Given the description of an element on the screen output the (x, y) to click on. 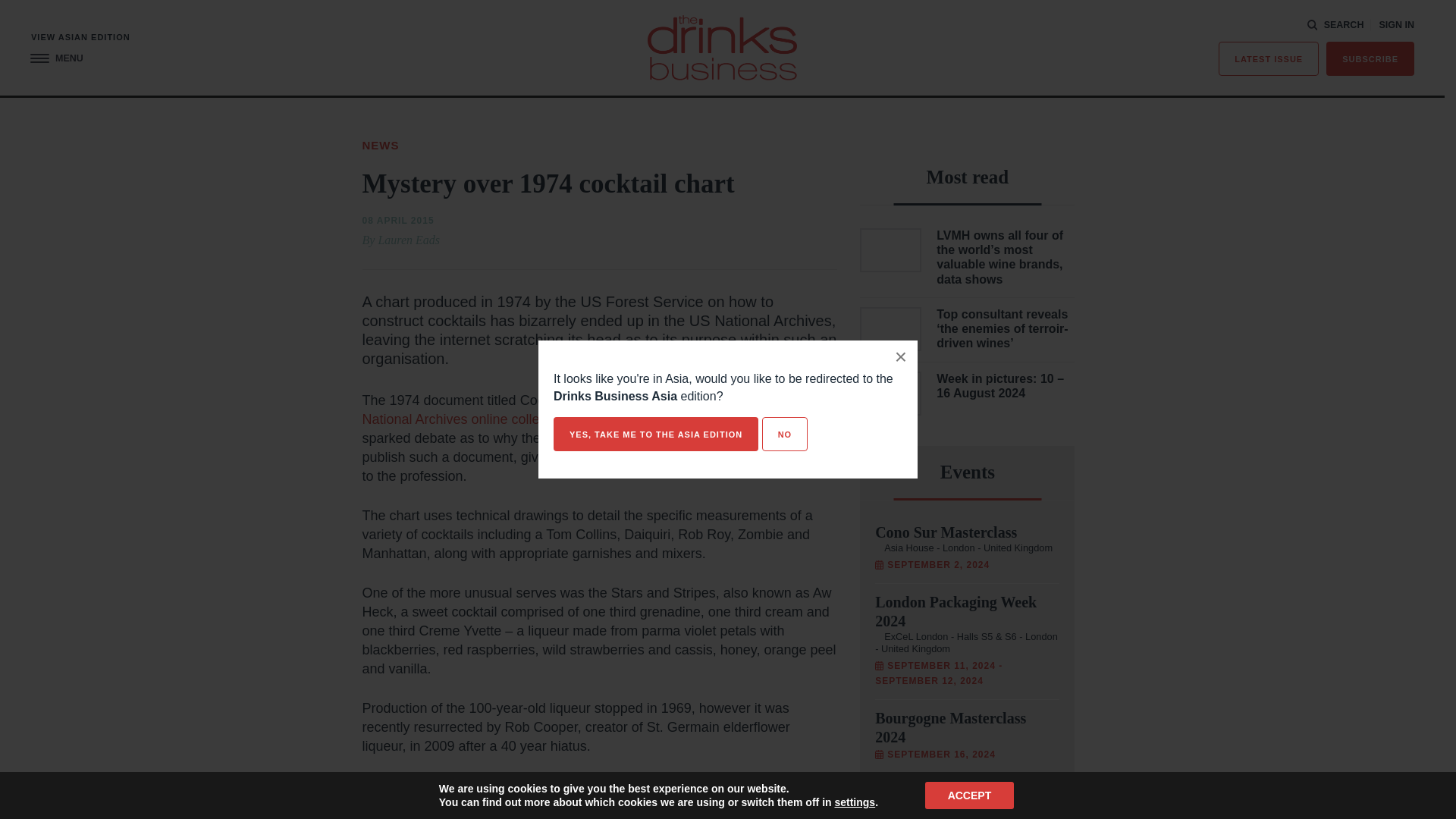
VIEW ASIAN EDITION (80, 37)
LATEST ISSUE (1268, 58)
YES, TAKE ME TO THE ASIA EDITION (655, 433)
NO (784, 433)
The Drinks Business (721, 47)
SIGN IN (1395, 25)
SUBSCRIBE (1369, 58)
